Given the description of an element on the screen output the (x, y) to click on. 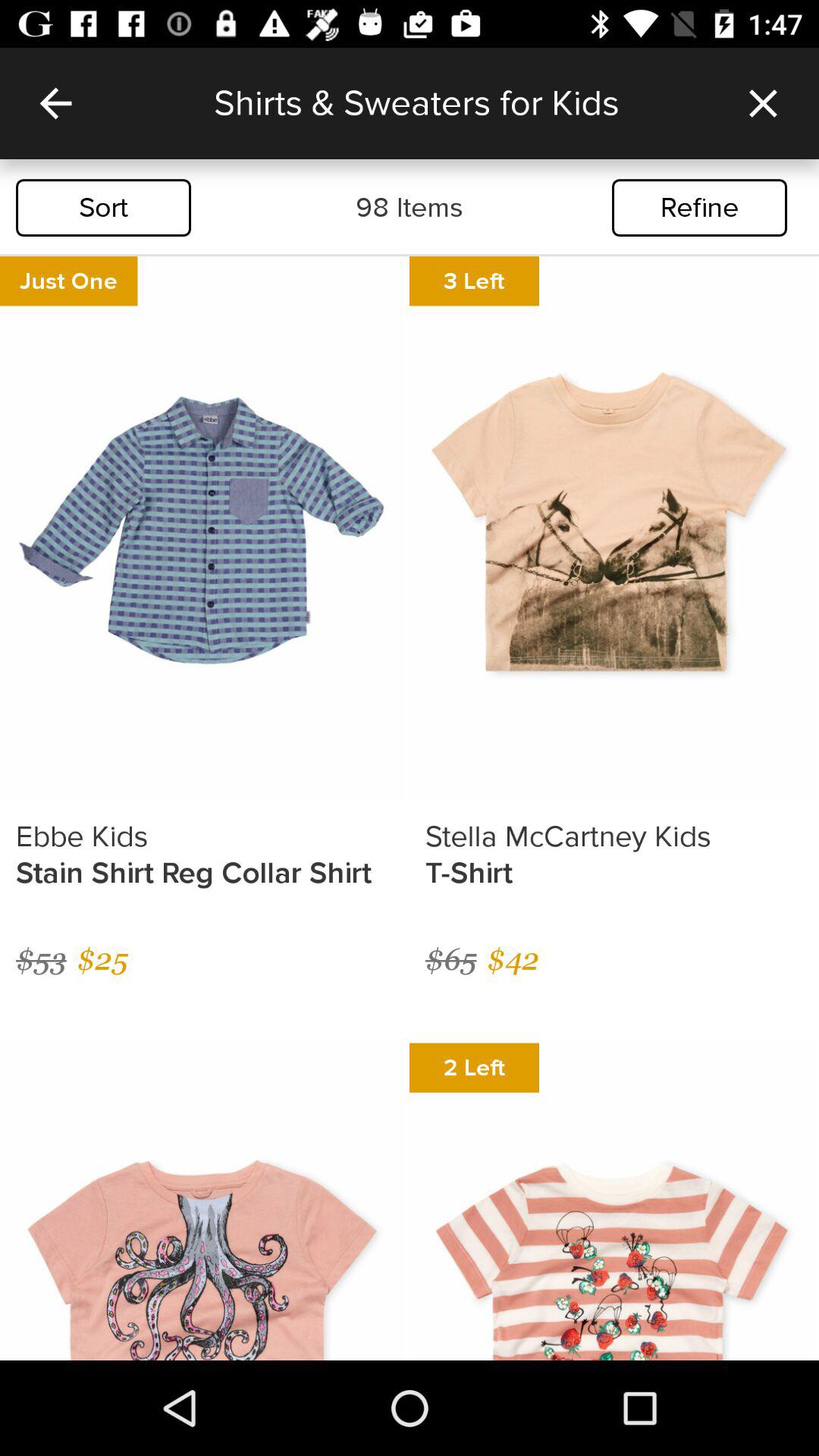
click item to the right of shirts sweaters for icon (763, 103)
